Given the description of an element on the screen output the (x, y) to click on. 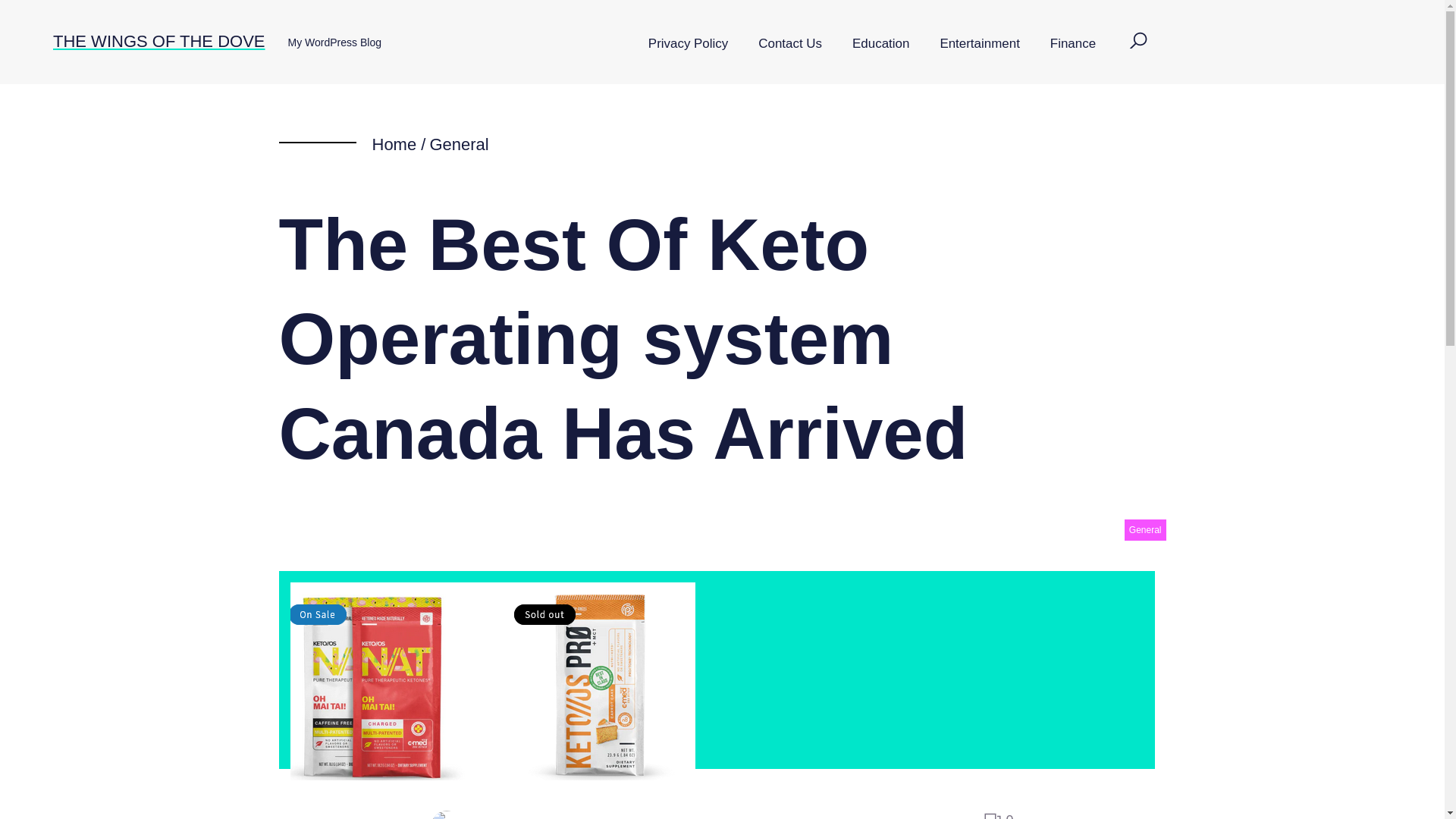
Home (393, 144)
THE WINGS OF THE DOVE (158, 40)
Contact Us (789, 43)
General (1145, 529)
Privacy Policy (687, 43)
Education (880, 43)
Finance (1072, 43)
Entertainment (978, 43)
General (458, 144)
